Given the description of an element on the screen output the (x, y) to click on. 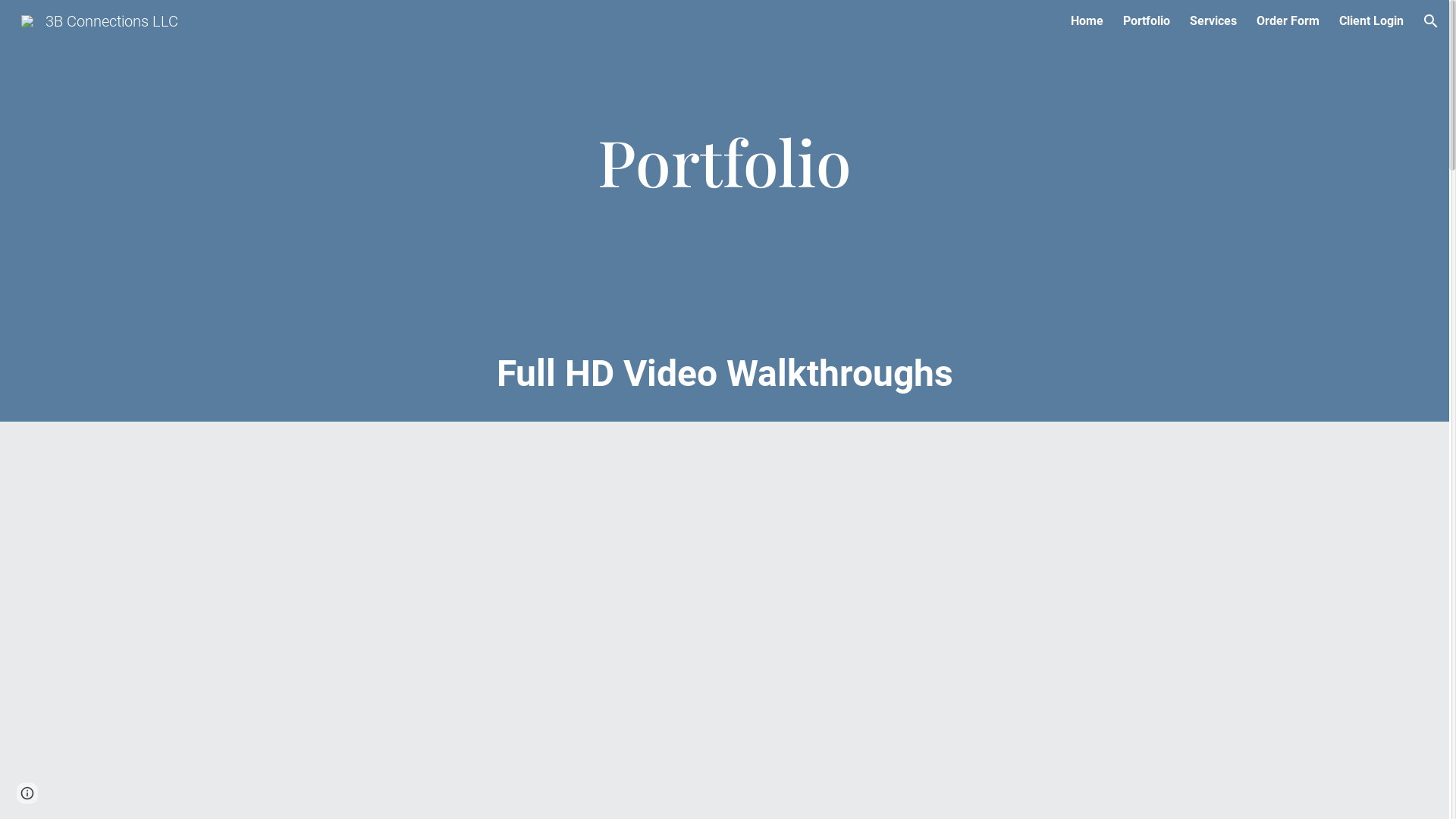
Portfolio Element type: text (1146, 20)
Services Element type: text (1212, 20)
Client Login Element type: text (1371, 20)
Home Element type: text (1086, 20)
3B Connections LLC Element type: text (99, 19)
Order Form Element type: text (1287, 20)
